Given the description of an element on the screen output the (x, y) to click on. 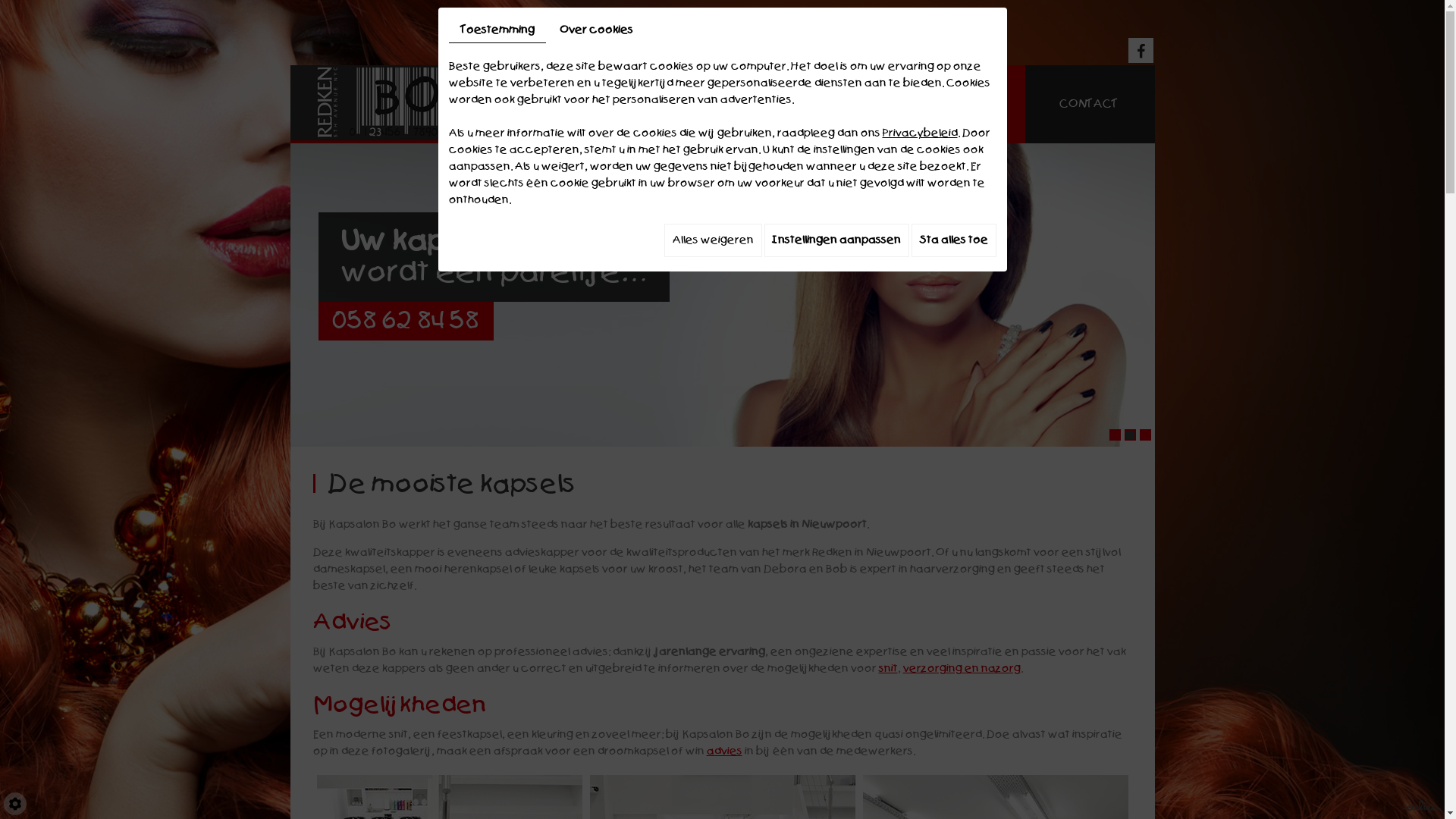
verzorging en nazorg Element type: text (960, 668)
Instellingen aanpassen Element type: text (836, 240)
FOTOGALERIJ Element type: text (946, 104)
PRODUCTEN Element type: text (800, 104)
KAPSALON Element type: text (662, 104)
Kapsalon Bo Element type: hover (387, 103)
Facebook  Element type: hover (1140, 49)
Cookie-instelling bewerken Element type: text (14, 803)
Privacybeleid Element type: text (919, 132)
Alles weigeren Element type: text (713, 240)
advies Element type: text (724, 750)
snit Element type: text (887, 668)
Toestemming Element type: text (497, 30)
X Element type: hover (743, 27)
HOME Element type: text (543, 104)
Over cookies Element type: text (595, 30)
Sta alles toe Element type: text (953, 240)
CONTACT Element type: text (1088, 104)
